Given the description of an element on the screen output the (x, y) to click on. 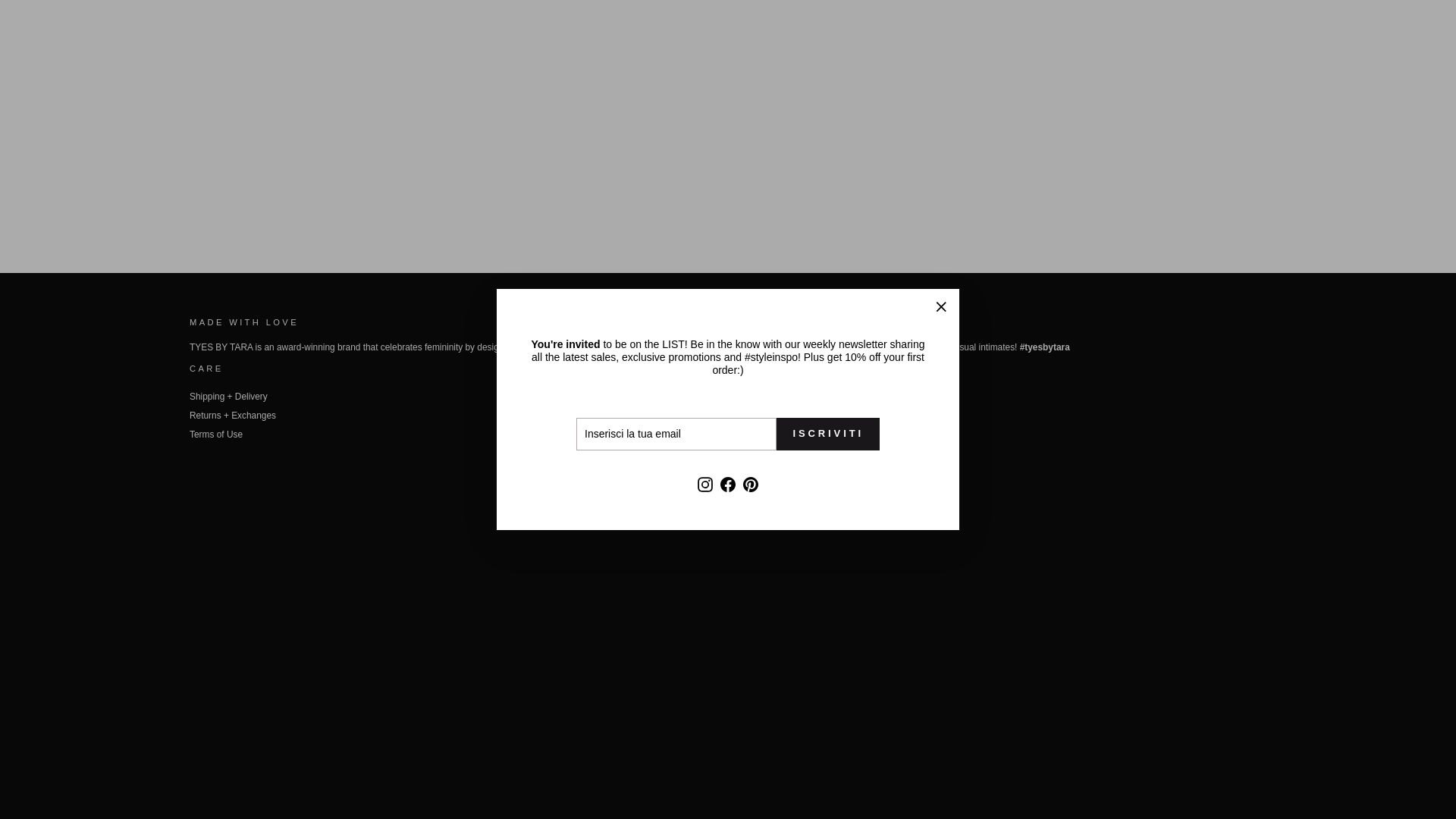
TYES BY TARA su Pinterest (750, 104)
TYES BY TARA su Facebook (727, 104)
icon-email (406, 662)
instagram (198, 708)
TYES BY TARA su Instagram (705, 104)
TYES BY TARA su Instagram (198, 708)
